Given the description of an element on the screen output the (x, y) to click on. 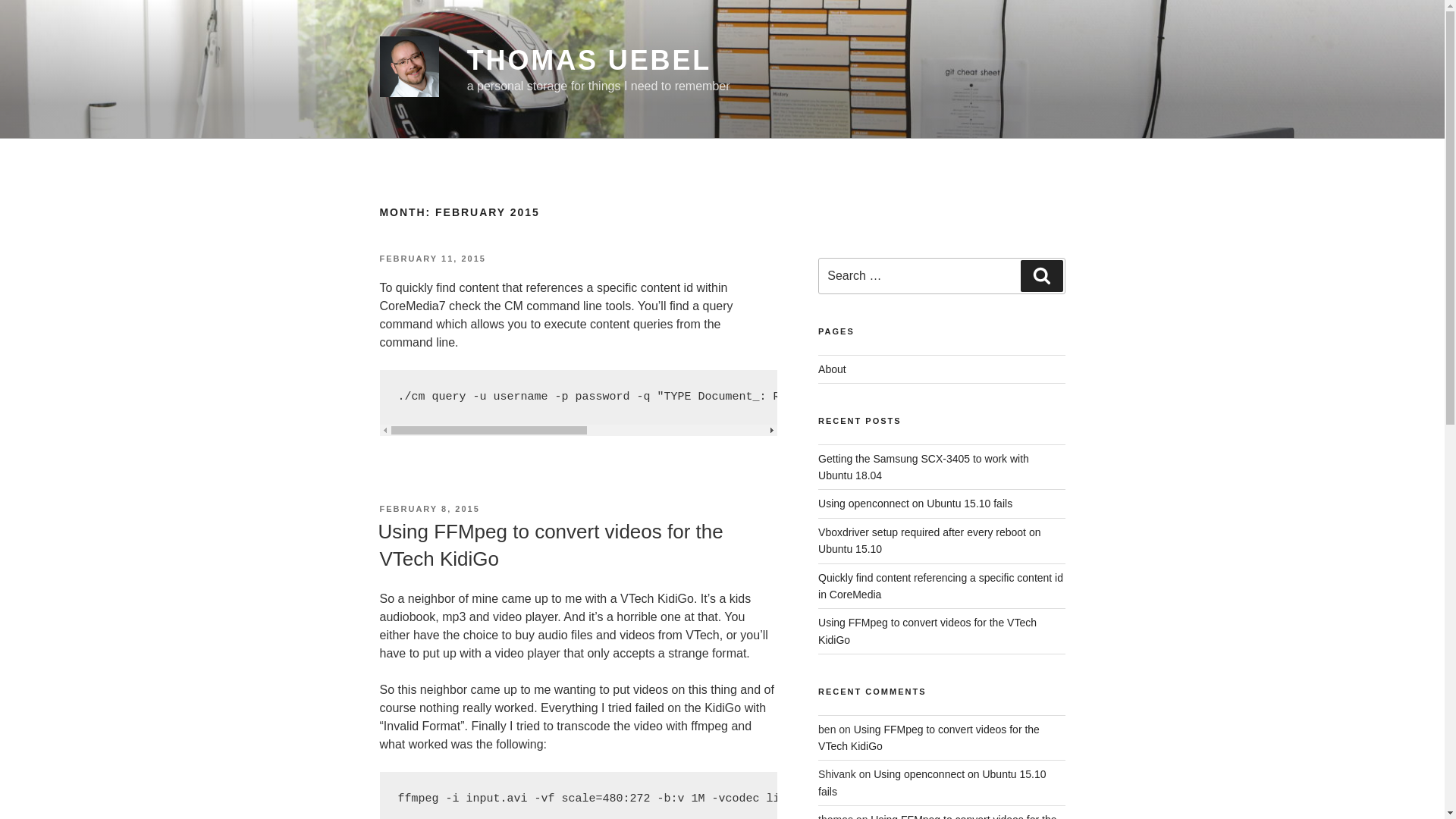
Using FFMpeg to convert videos for the VTech KidiGo (937, 816)
Using FFMpeg to convert videos for the VTech KidiGo (549, 545)
About (831, 369)
Using openconnect on Ubuntu 15.10 fails (931, 782)
FEBRUARY 11, 2015 (431, 257)
Getting the Samsung SCX-3405 to work with Ubuntu 18.04 (923, 466)
Search (1041, 275)
Using FFMpeg to convert videos for the VTech KidiGo (927, 630)
Using openconnect on Ubuntu 15.10 fails (914, 503)
THOMAS UEBEL (589, 60)
Using FFMpeg to convert videos for the VTech KidiGo (928, 737)
FEBRUARY 8, 2015 (428, 508)
Vboxdriver setup required after every reboot on Ubuntu 15.10 (929, 540)
